Given the description of an element on the screen output the (x, y) to click on. 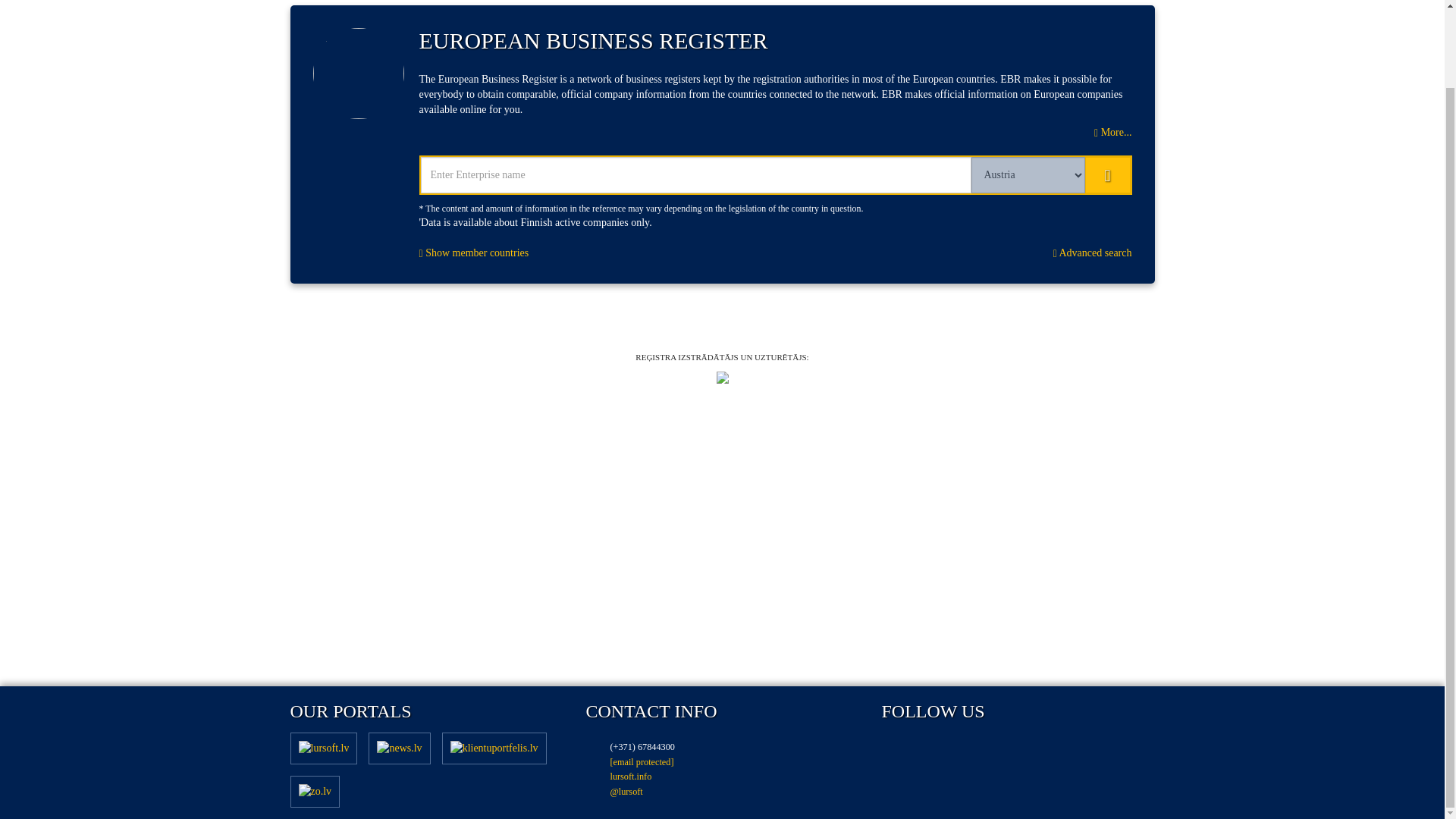
Twitter (998, 751)
Draugiem (949, 751)
lursoft.info (630, 776)
Facebook (1048, 751)
lursoft.info (630, 776)
Facebook (1048, 751)
Subscribe (899, 751)
Twitter (998, 751)
Advanced search (1092, 253)
Draugiem (949, 751)
Show member countries (473, 252)
Subscribe (899, 751)
More... (1112, 132)
